Given the description of an element on the screen output the (x, y) to click on. 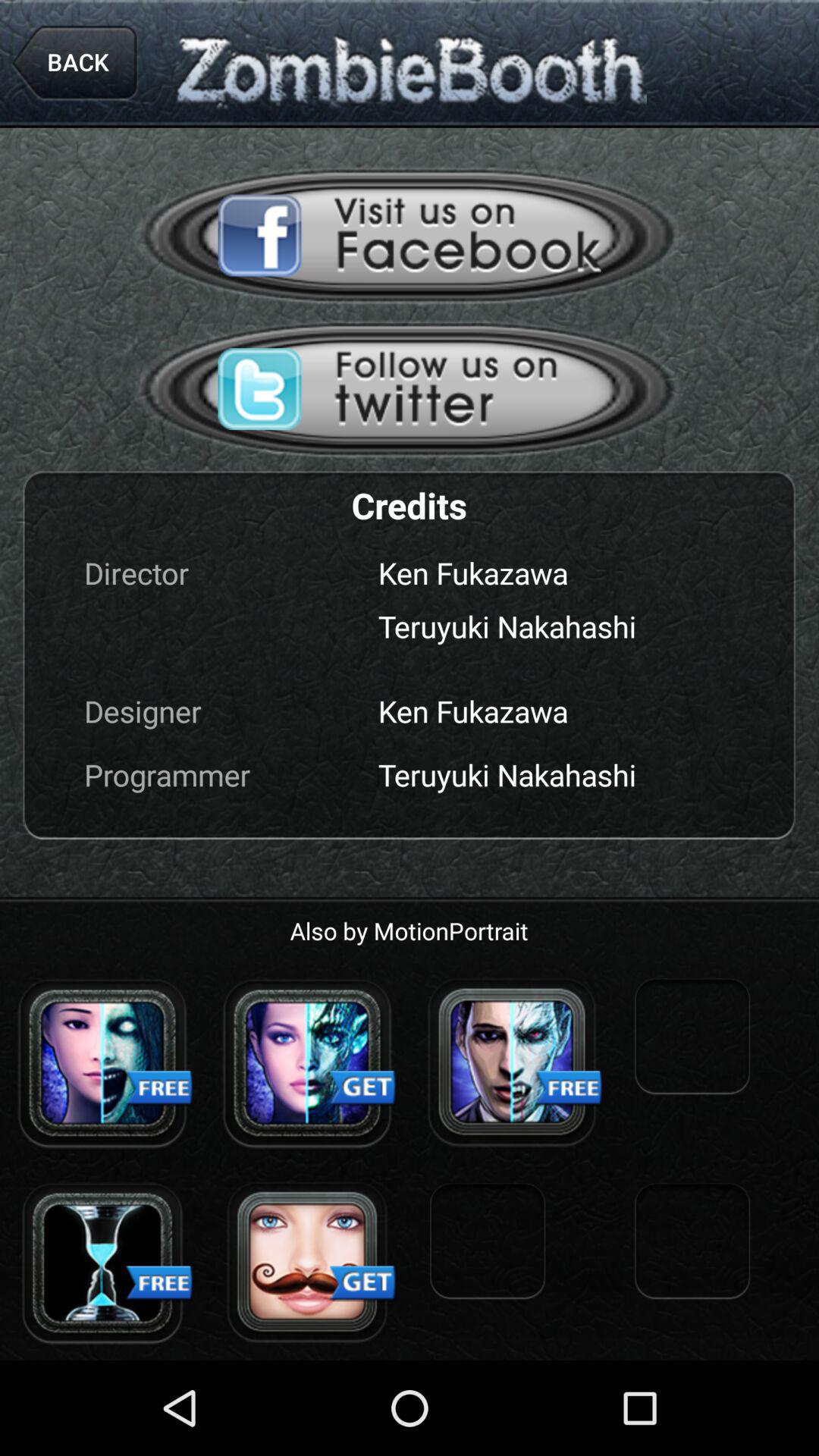
open advertisement (102, 1062)
